Given the description of an element on the screen output the (x, y) to click on. 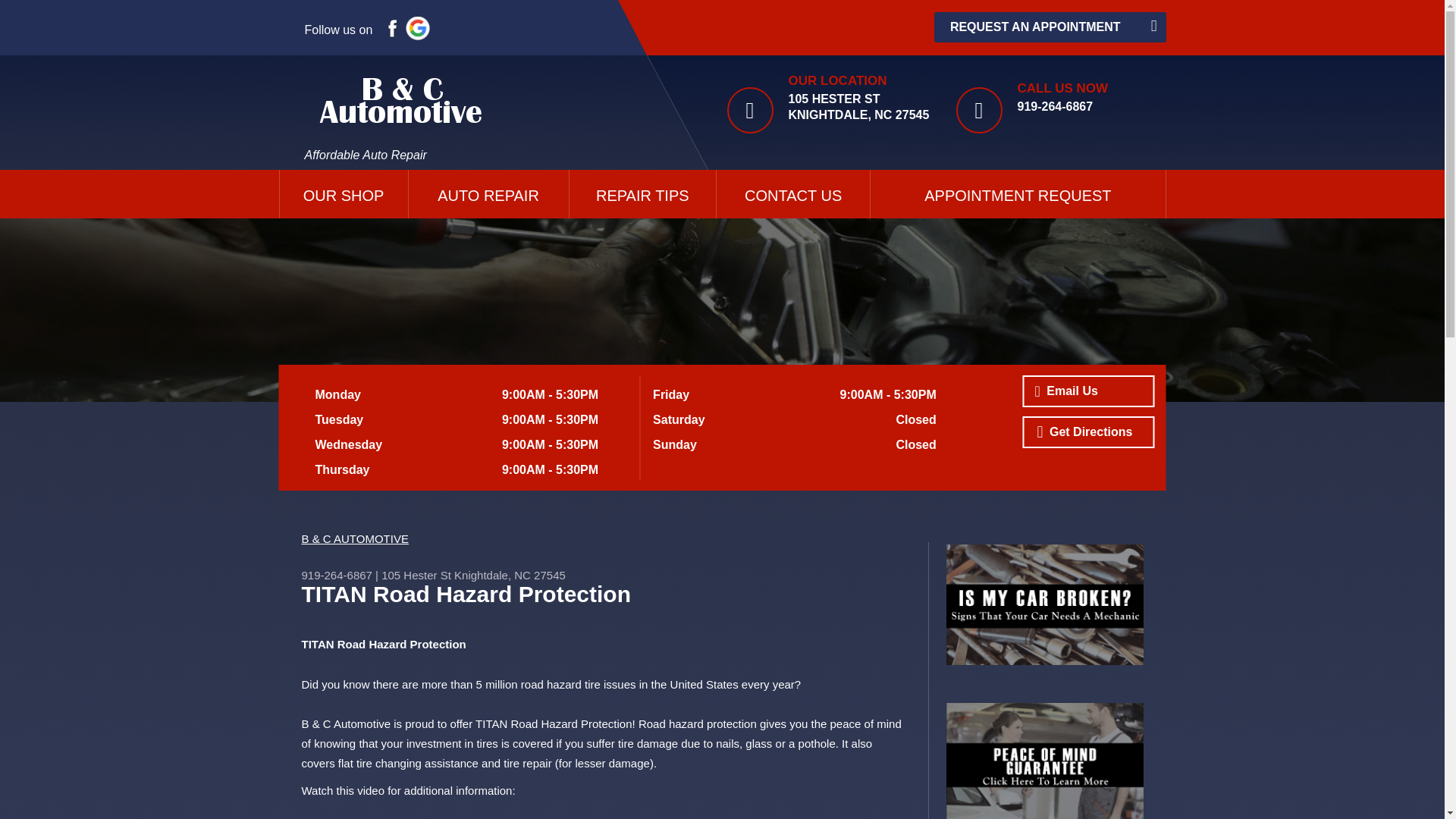
AUTO REPAIR (489, 193)
105 Hester St (416, 574)
919-264-6867 (336, 574)
REQUEST AN APPOINTMENT (1050, 27)
Email Us (1088, 391)
919-264-6867 (1055, 106)
CONTACT US (792, 193)
APPOINTMENT REQUEST (1017, 193)
REPAIR TIPS (642, 193)
OUR SHOP (343, 193)
